Given the description of an element on the screen output the (x, y) to click on. 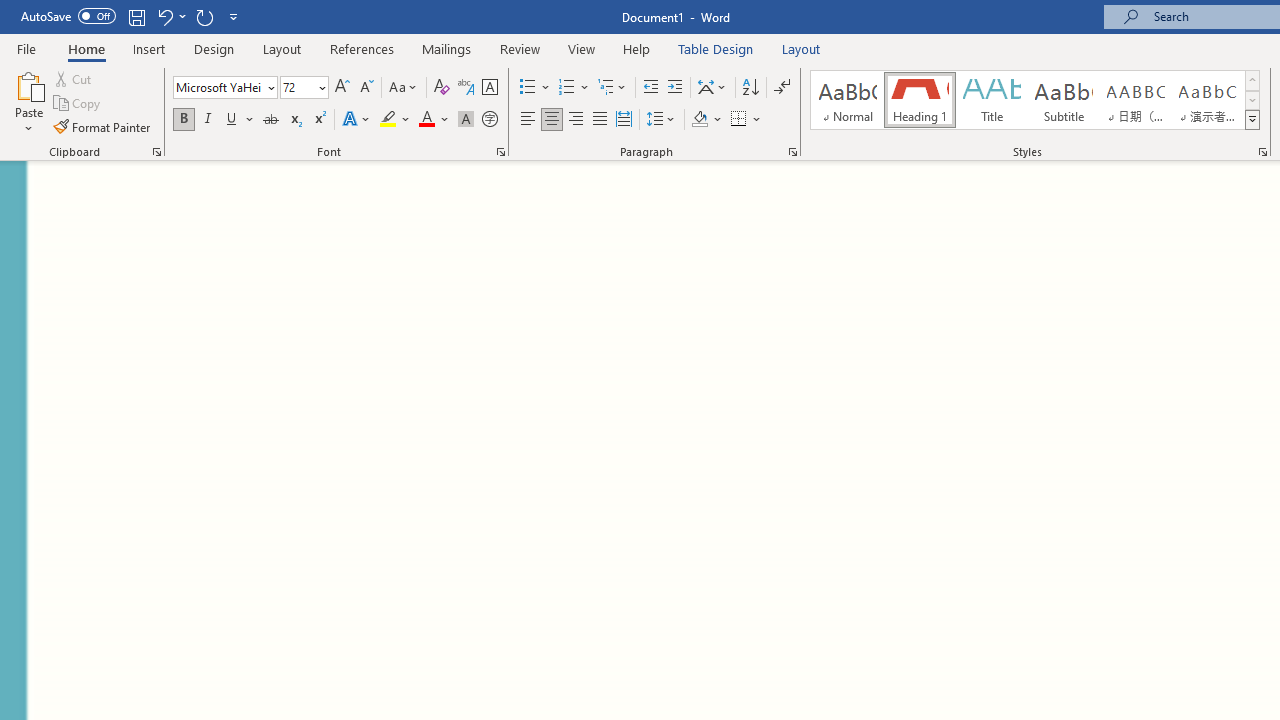
Font Color Red (426, 119)
Insert (149, 48)
Layout (801, 48)
File Tab (26, 48)
Multilevel List (613, 87)
Numbering (573, 87)
Customize Quick Access Toolbar (234, 15)
Review (520, 48)
Text Highlight Color Yellow (388, 119)
Enclose Characters... (489, 119)
Underline (232, 119)
Shrink Font (365, 87)
View (582, 48)
Shading (706, 119)
Strikethrough (270, 119)
